Given the description of an element on the screen output the (x, y) to click on. 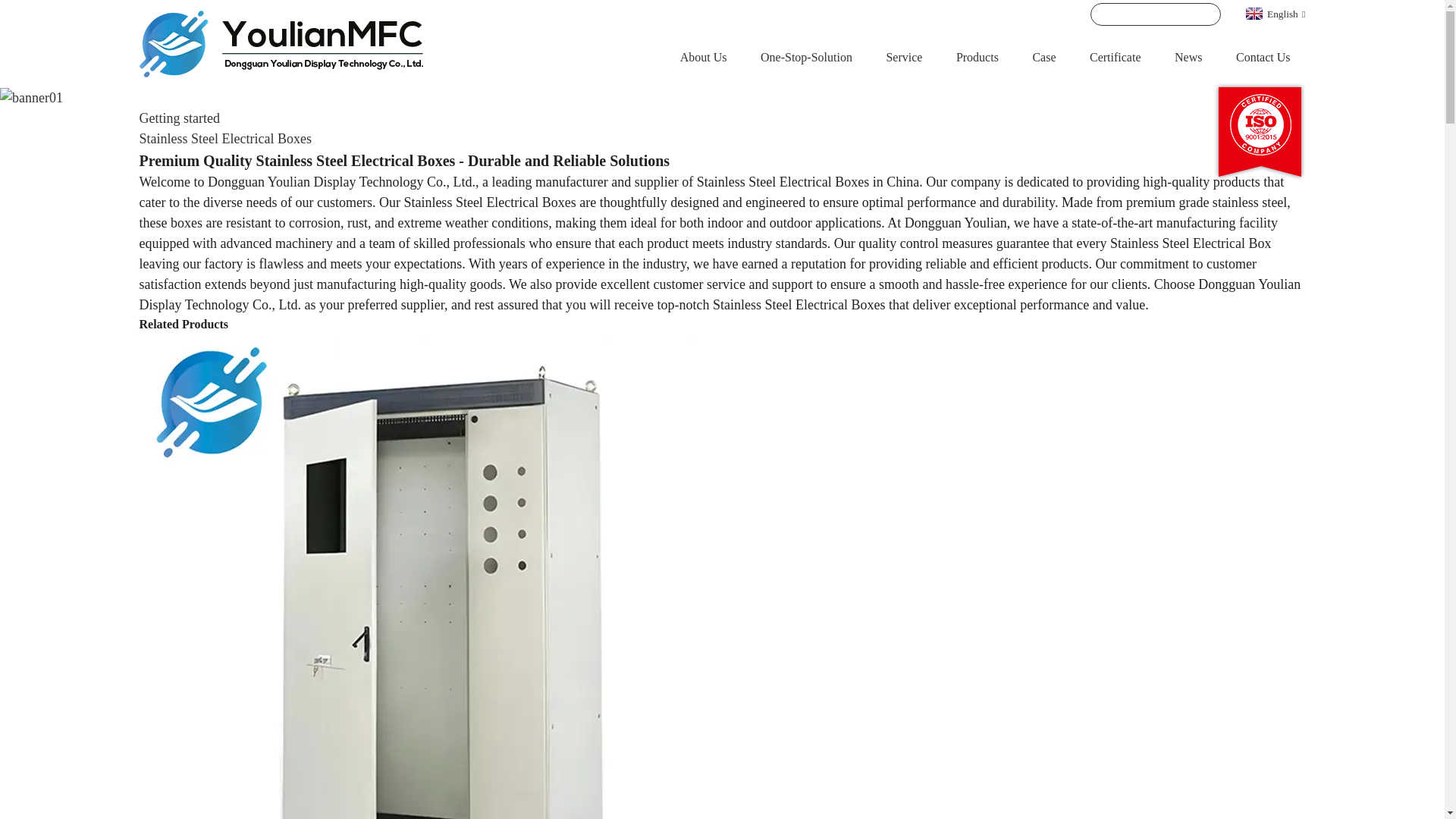
One-Stop-Solution (805, 56)
Contact Us (1263, 56)
Stainless Steel Electrical Boxes (225, 138)
English (1272, 12)
Getting started (179, 118)
